Given the description of an element on the screen output the (x, y) to click on. 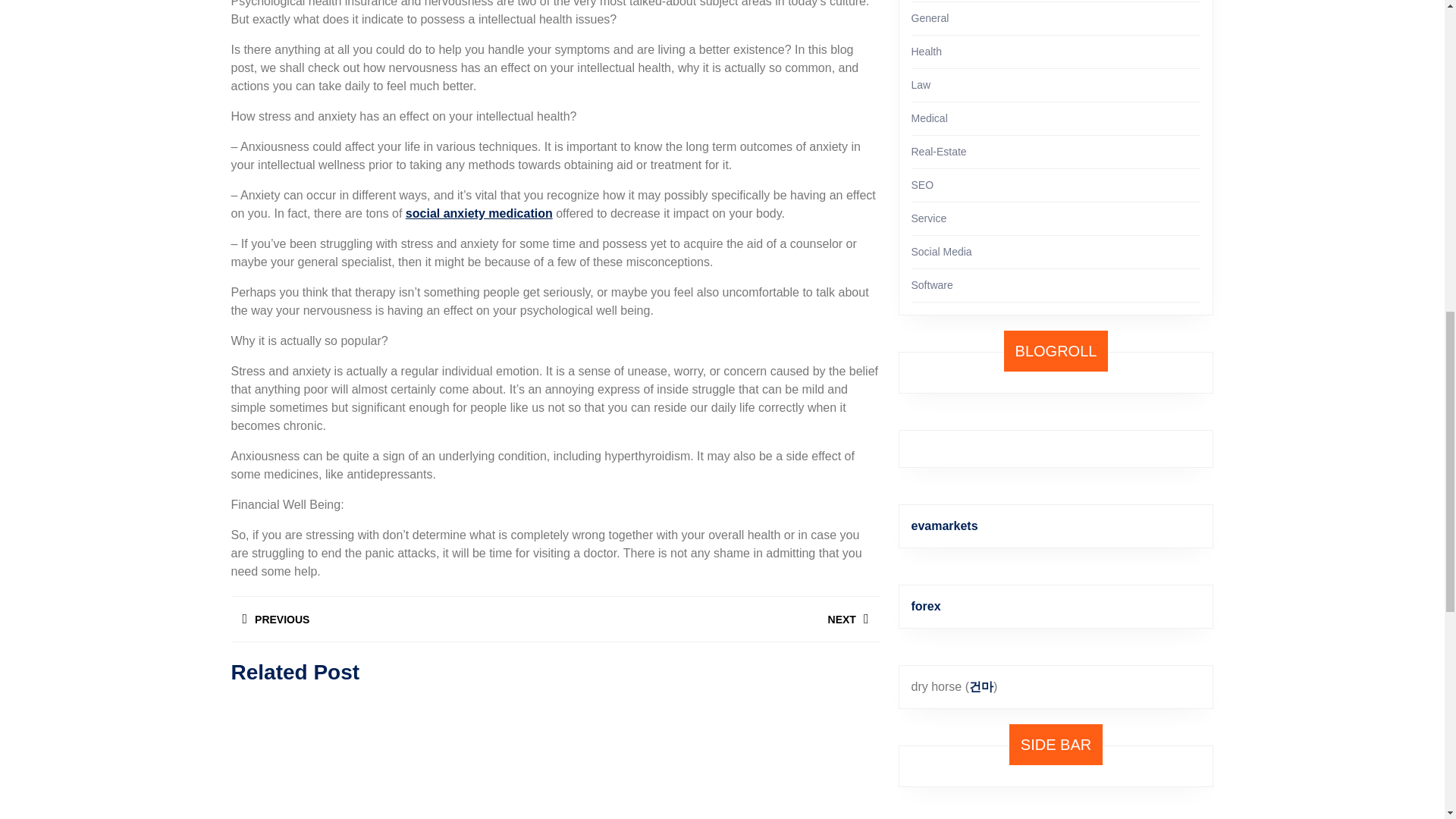
social anxiety medication (479, 213)
